Given the description of an element on the screen output the (x, y) to click on. 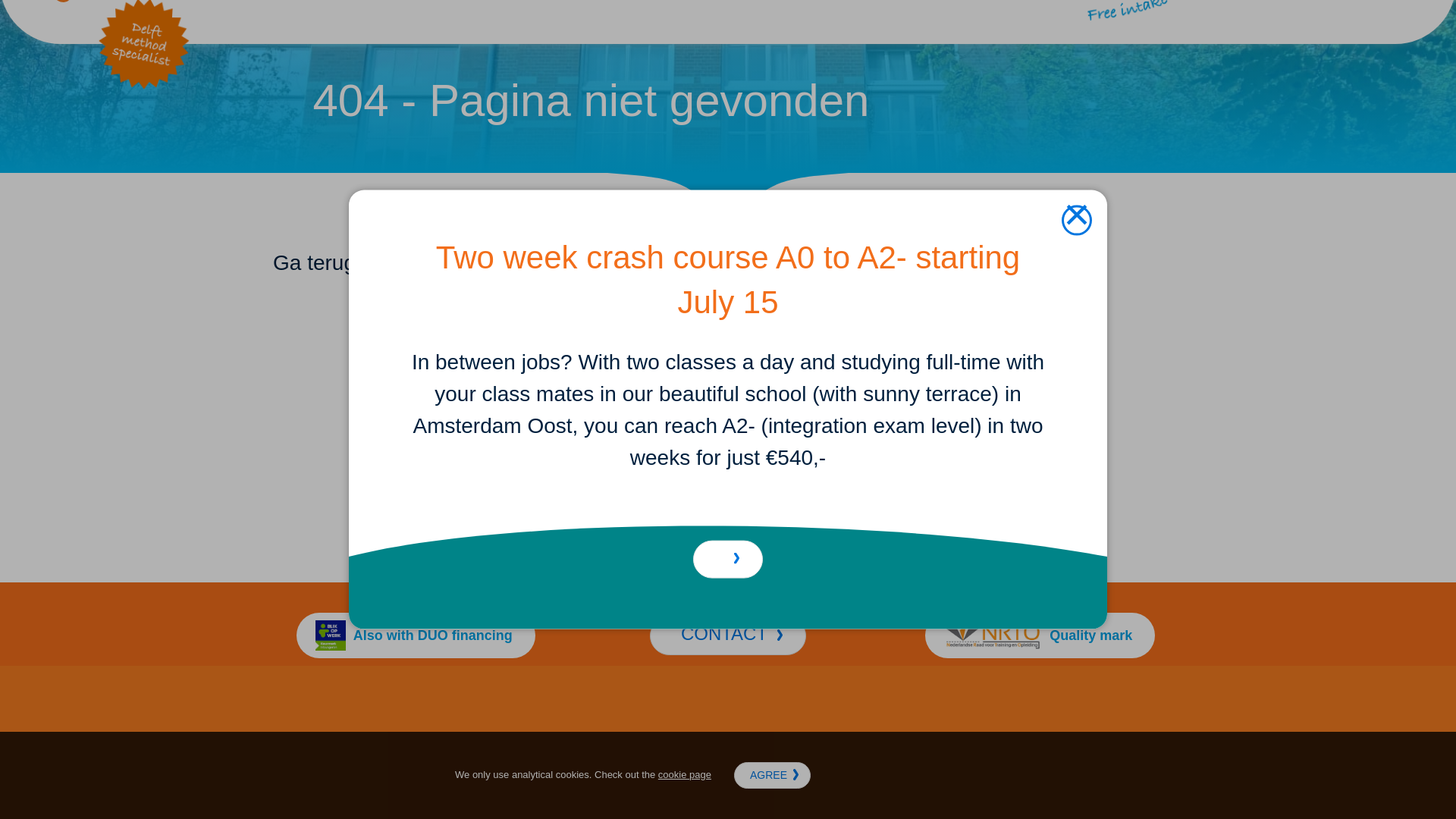
CONTACT (727, 635)
Quality mark (1039, 635)
Also with DUO financing (416, 635)
homepage (488, 262)
